Given the description of an element on the screen output the (x, y) to click on. 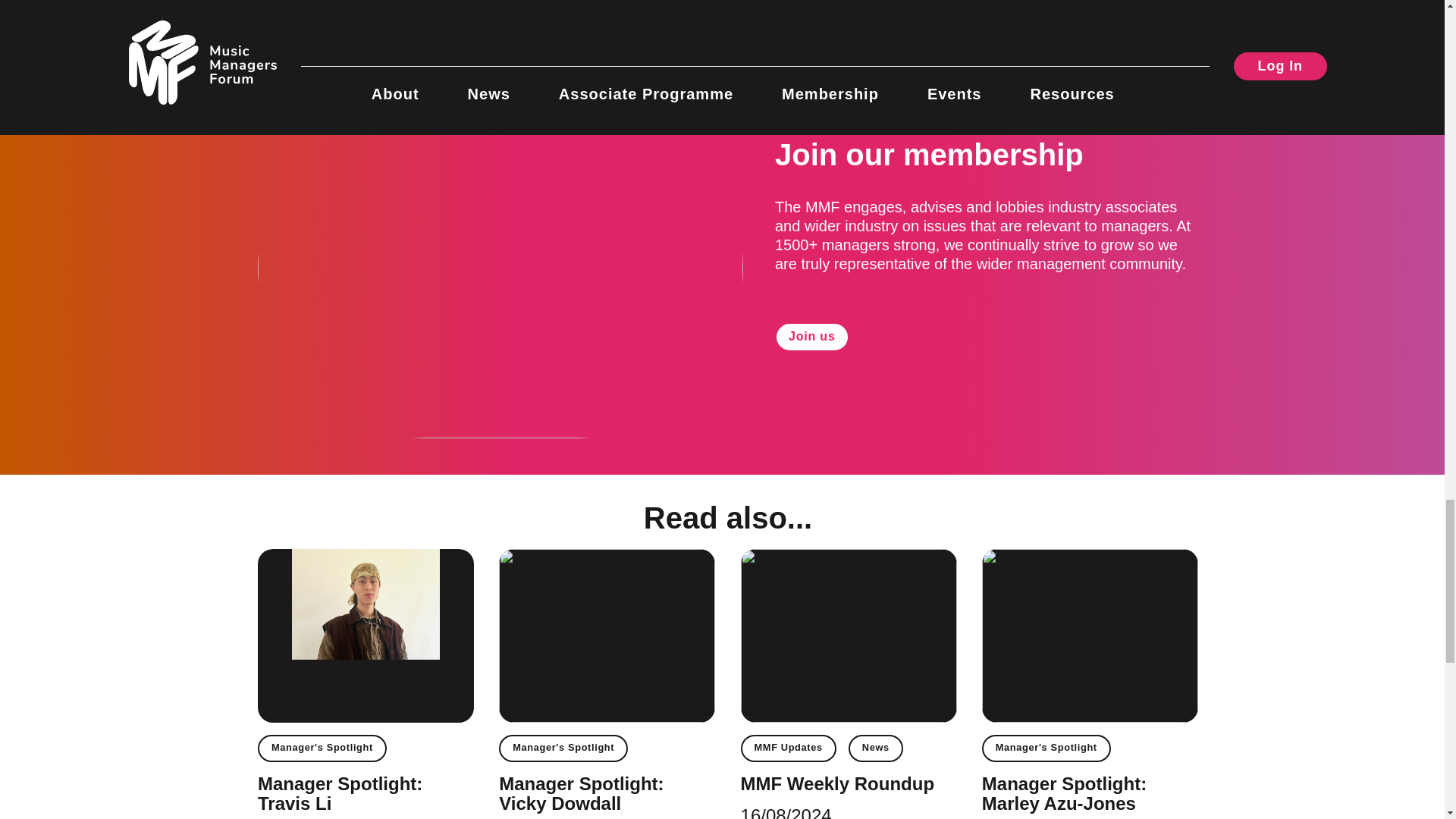
Manager's Spotlight (322, 748)
Manager's Spotlight (1045, 748)
here (480, 1)
MMF Updates (788, 748)
News (875, 748)
Manager's Spotlight (563, 748)
Join us (811, 337)
